Given the description of an element on the screen output the (x, y) to click on. 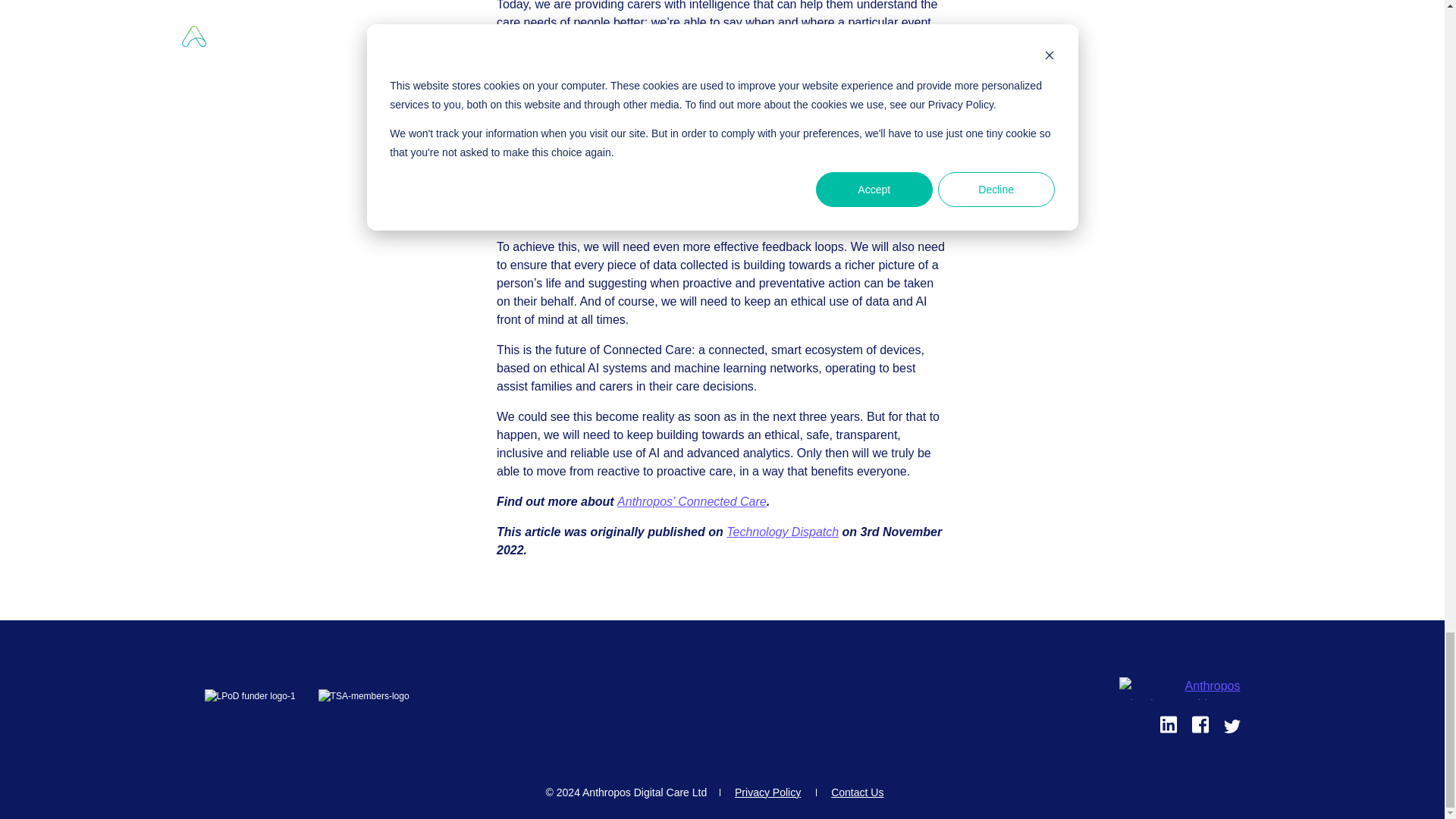
Contact Us (857, 792)
Technology Dispatch (782, 531)
Privacy Policy (767, 792)
